Given the description of an element on the screen output the (x, y) to click on. 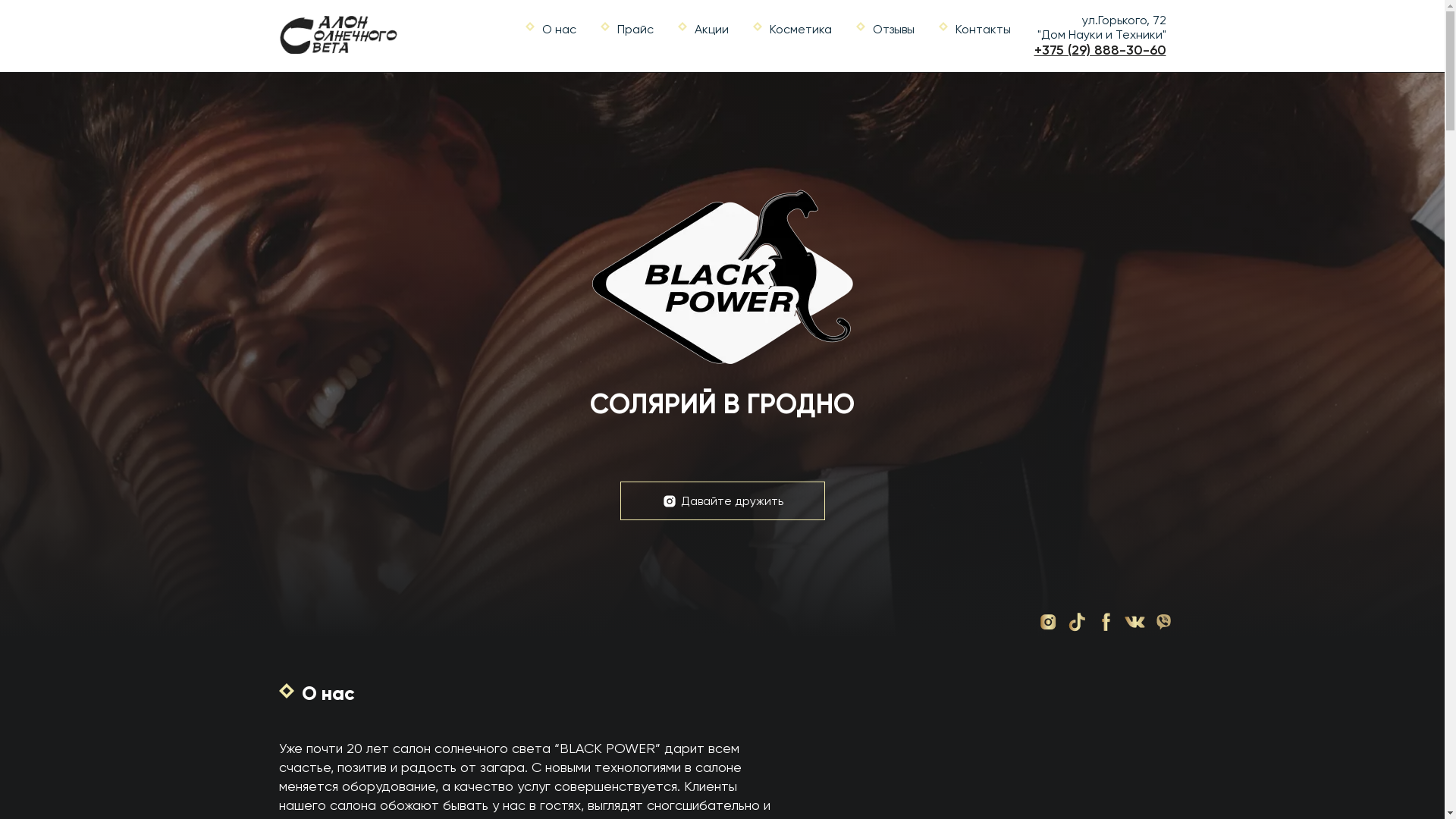
+375 (29) 888-30-60 Element type: text (1100, 49)
